Given the description of an element on the screen output the (x, y) to click on. 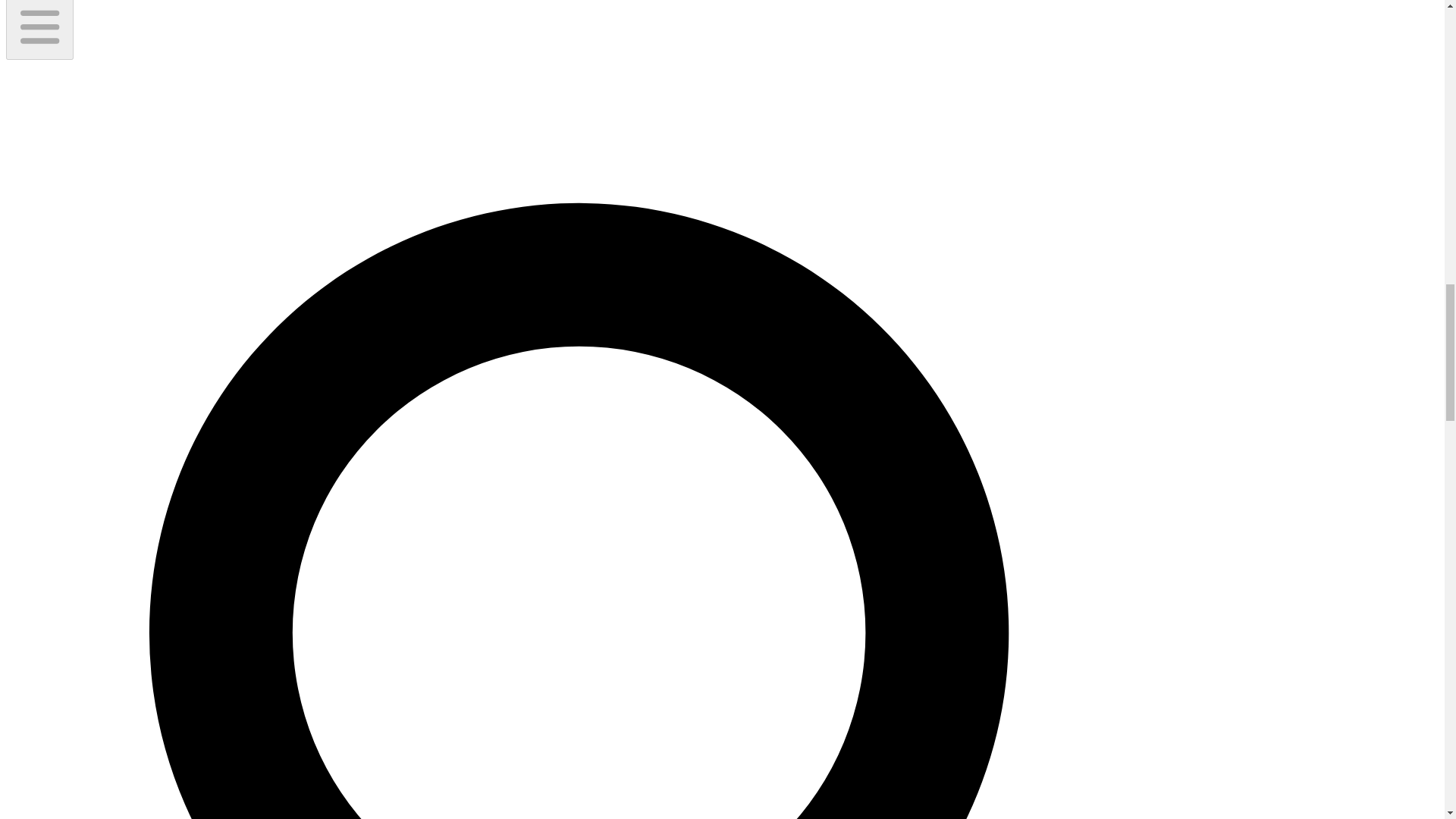
Open menu (39, 29)
